Given the description of an element on the screen output the (x, y) to click on. 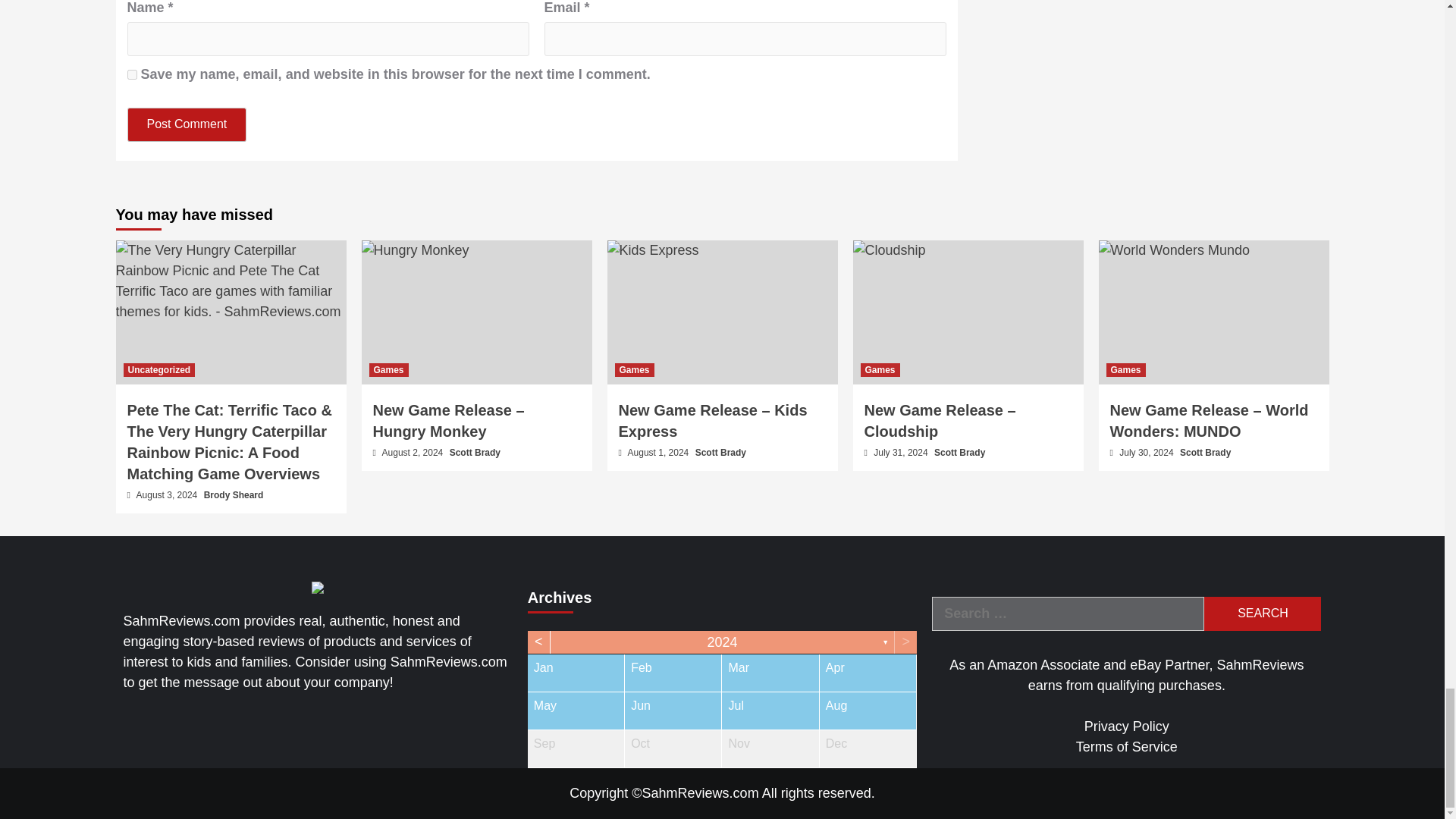
yes (132, 74)
January, 2024 (575, 672)
Search (1262, 613)
February, 2024 (672, 672)
March, 2024 (770, 672)
Search (1262, 613)
Post Comment (187, 124)
